Given the description of an element on the screen output the (x, y) to click on. 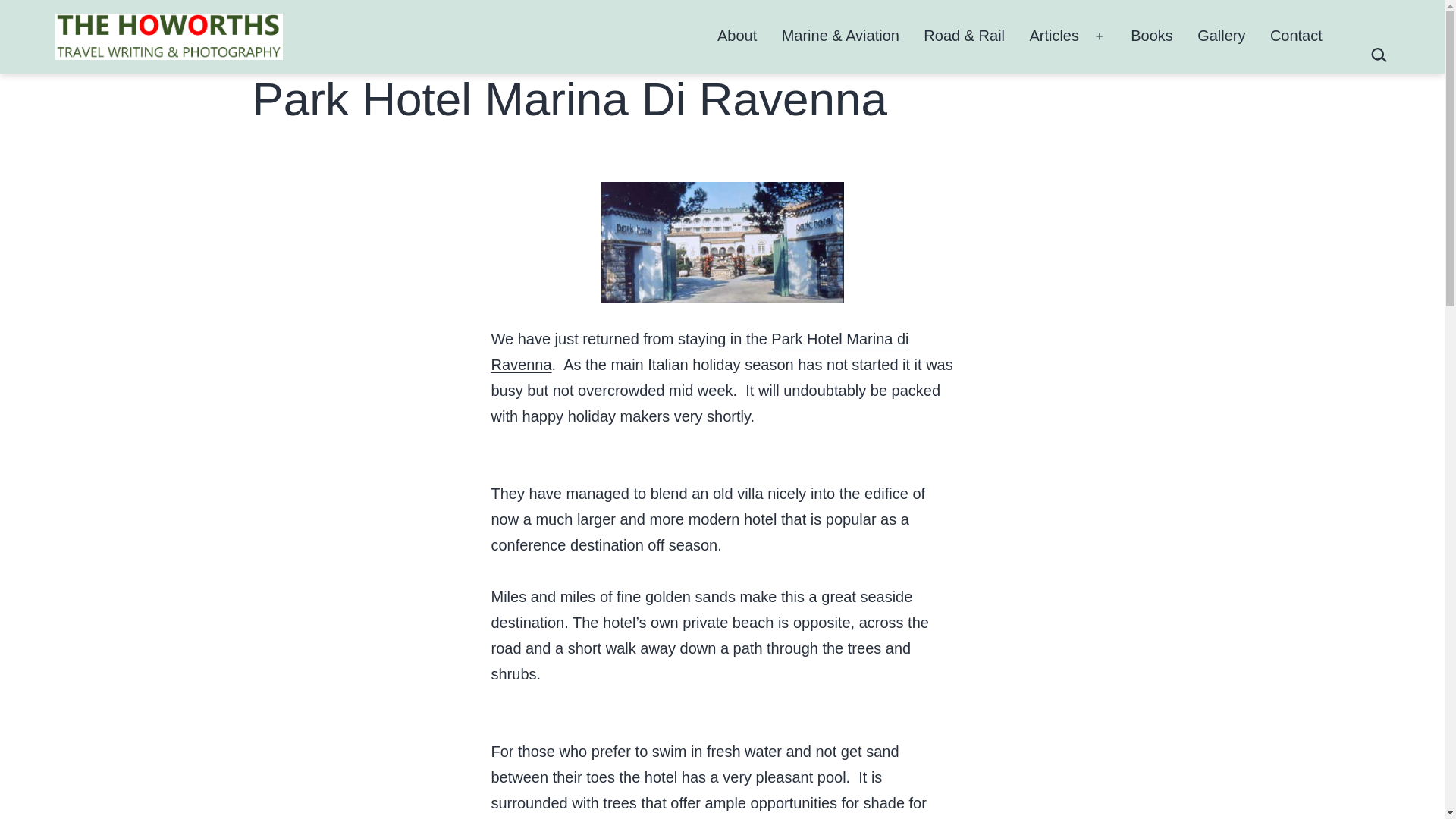
About (737, 36)
Contact (1296, 36)
Books (1151, 36)
Park Hotel Marina di Ravenna (700, 351)
Articles (1054, 36)
Gallery (1221, 36)
